Given the description of an element on the screen output the (x, y) to click on. 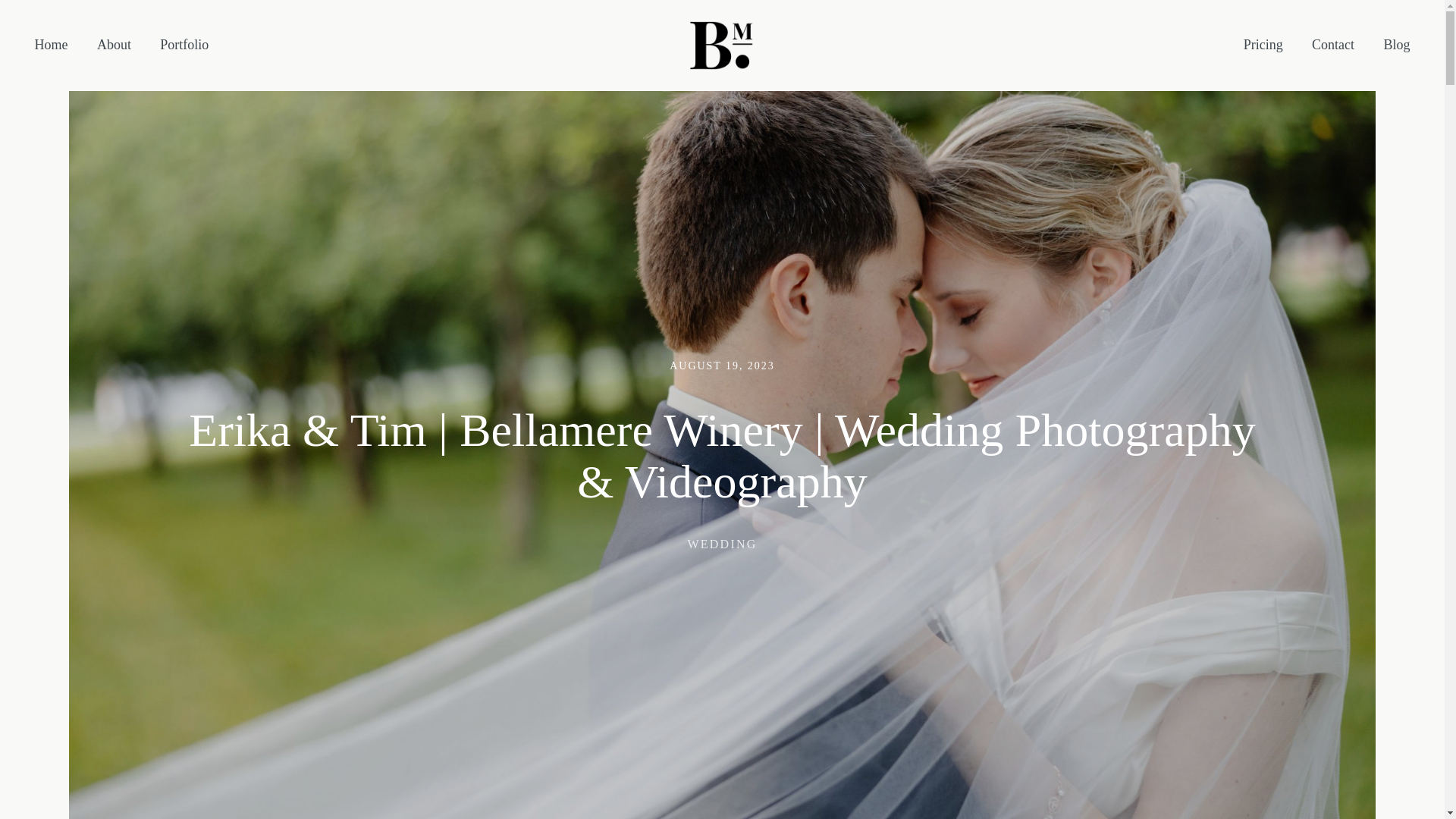
Home (50, 45)
Contact (1332, 45)
About (113, 45)
Blog (1395, 45)
Portfolio (183, 45)
Pricing (1262, 45)
